Given the description of an element on the screen output the (x, y) to click on. 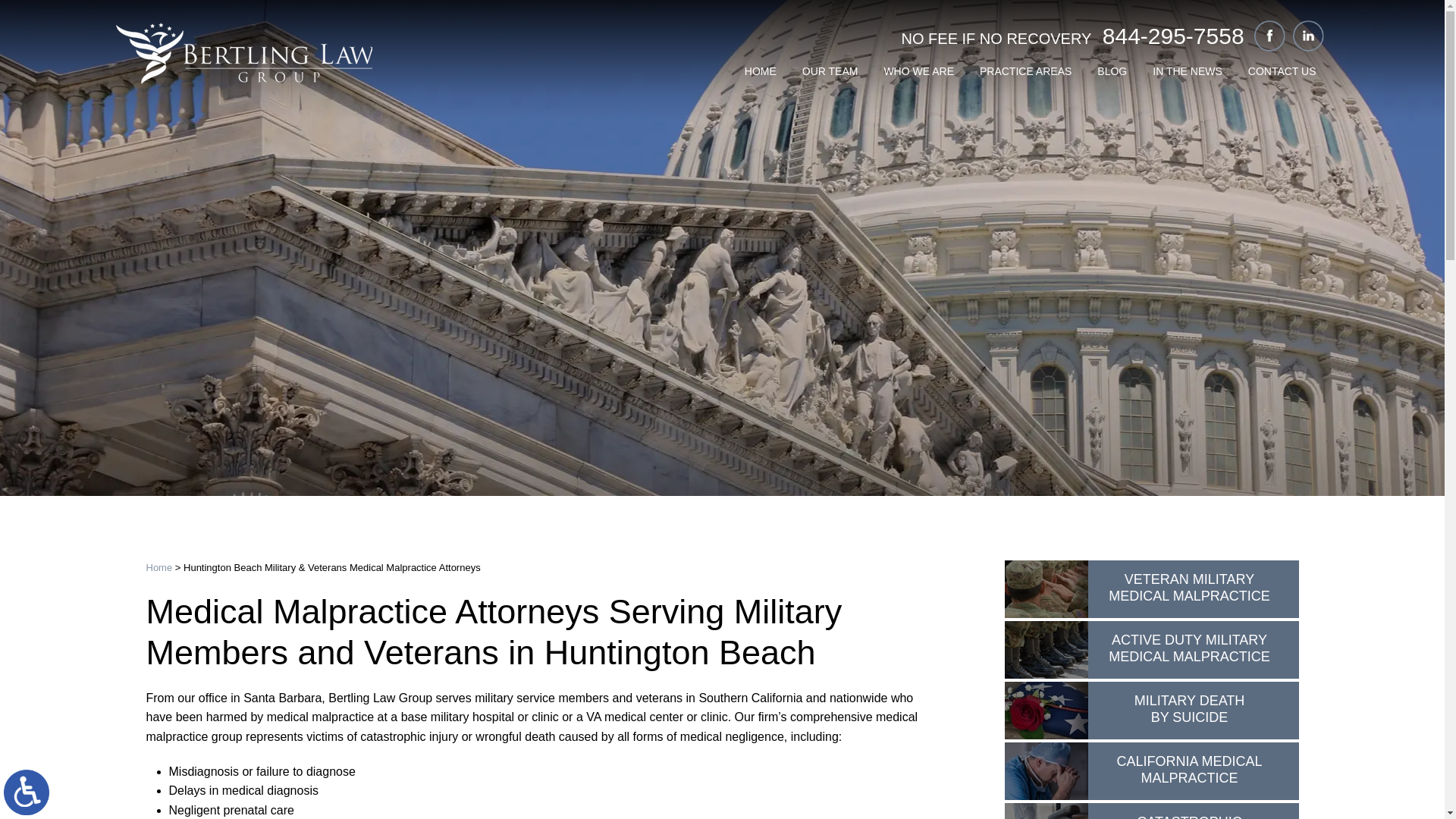
PRACTICE AREAS (1025, 71)
Switch to ADA Accessible Theme (26, 791)
IN THE NEWS (1187, 71)
844-295-7558 (1173, 36)
WHO WE ARE (918, 71)
CONTACT US (1281, 71)
BLOG (1112, 71)
HOME (760, 71)
OUR TEAM (829, 71)
